Given the description of an element on the screen output the (x, y) to click on. 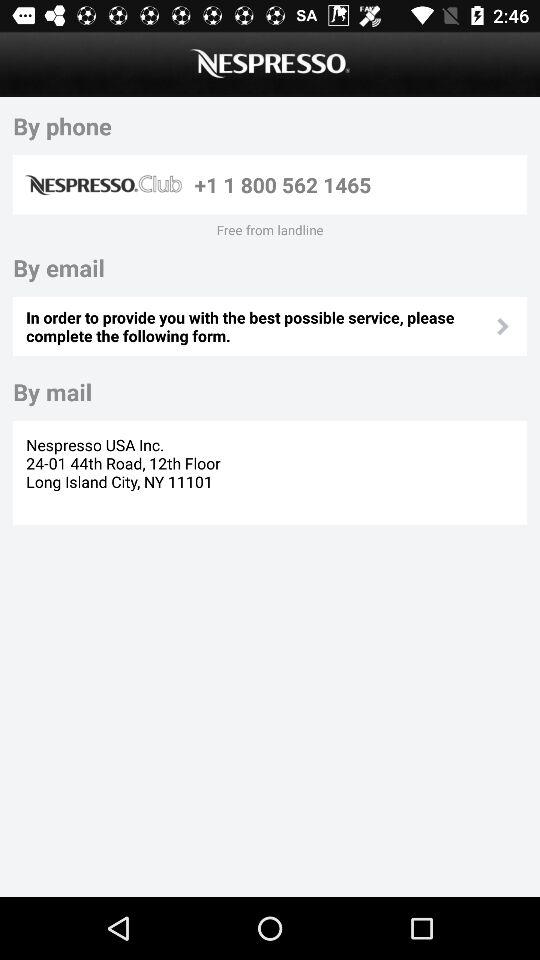
turn off the icon below the by mail icon (125, 472)
